Given the description of an element on the screen output the (x, y) to click on. 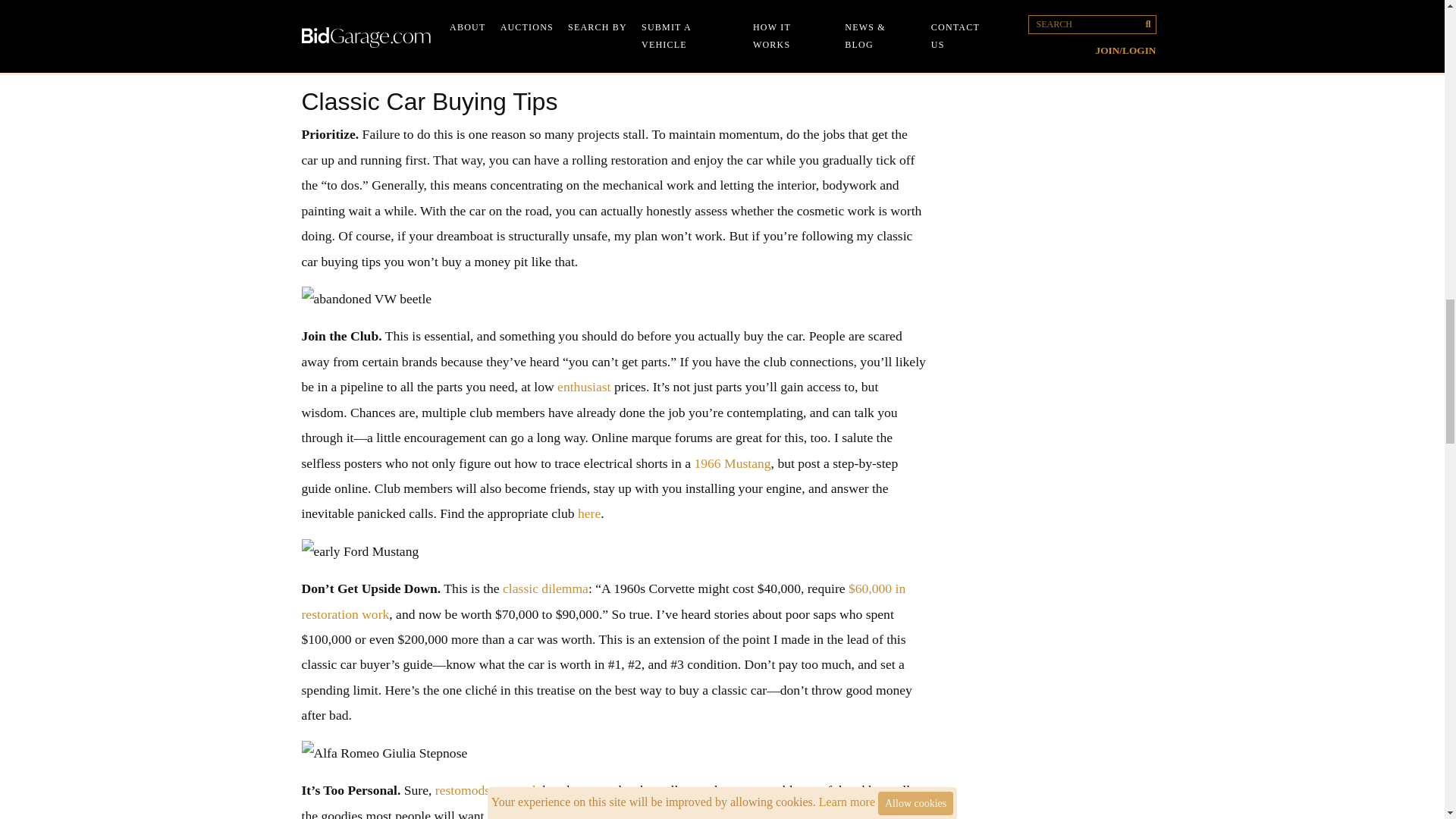
enthusiast (583, 386)
abandoned car (614, 62)
here (588, 513)
restomods are cool (485, 789)
1966 Mustang (732, 462)
abandoned VW beetle (614, 299)
classic dilemma (545, 588)
early Ford Mustang (614, 551)
Alfa Romeo Giulia Stepnose (614, 753)
